Given the description of an element on the screen output the (x, y) to click on. 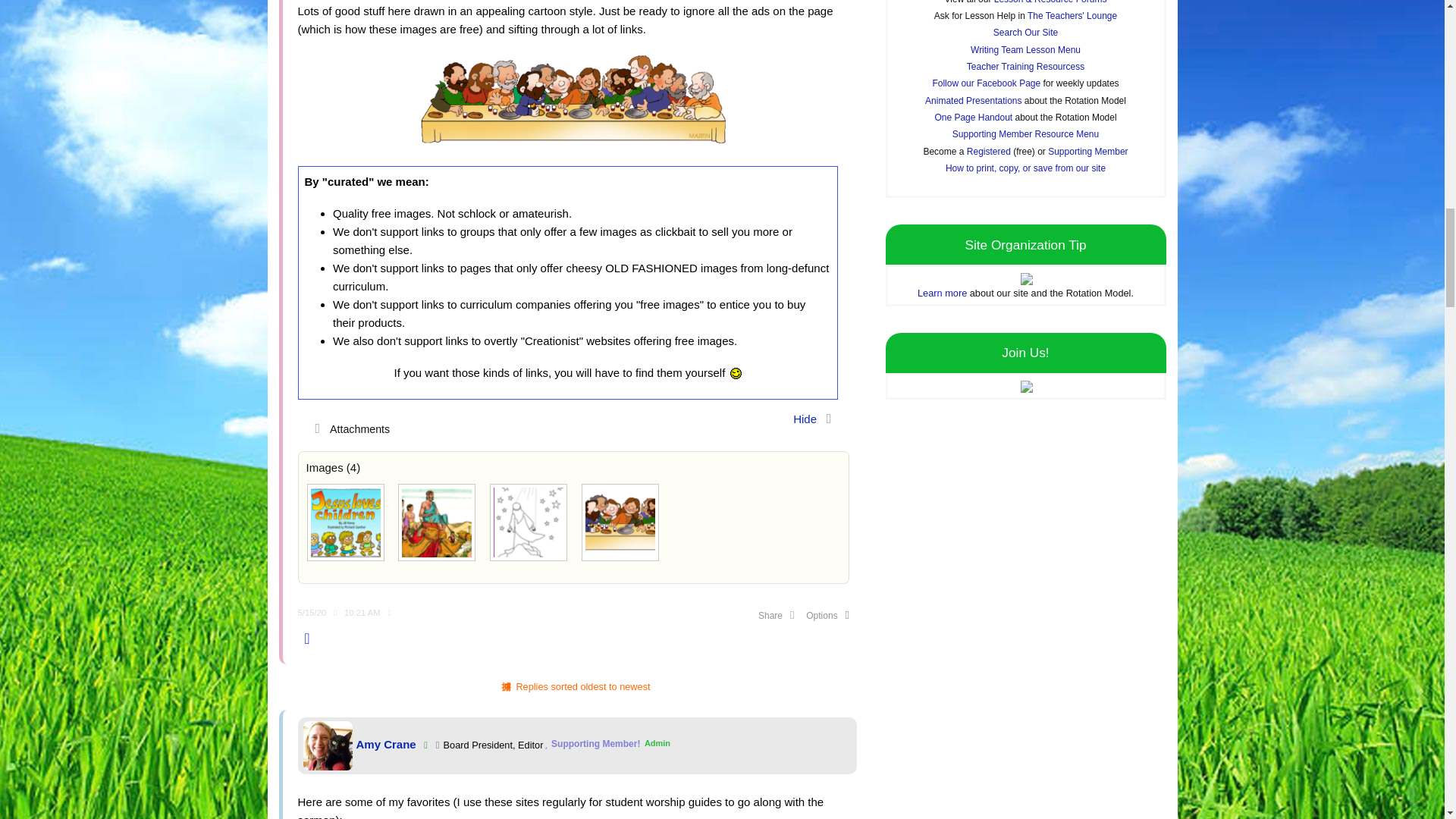
Free Bible Images .org (436, 522)
Jill Kemp's Bible Illustrations (345, 522)
Good black and white Bible coloring pages (528, 522)
Phil Martin's Bible images (620, 522)
